Given the description of an element on the screen output the (x, y) to click on. 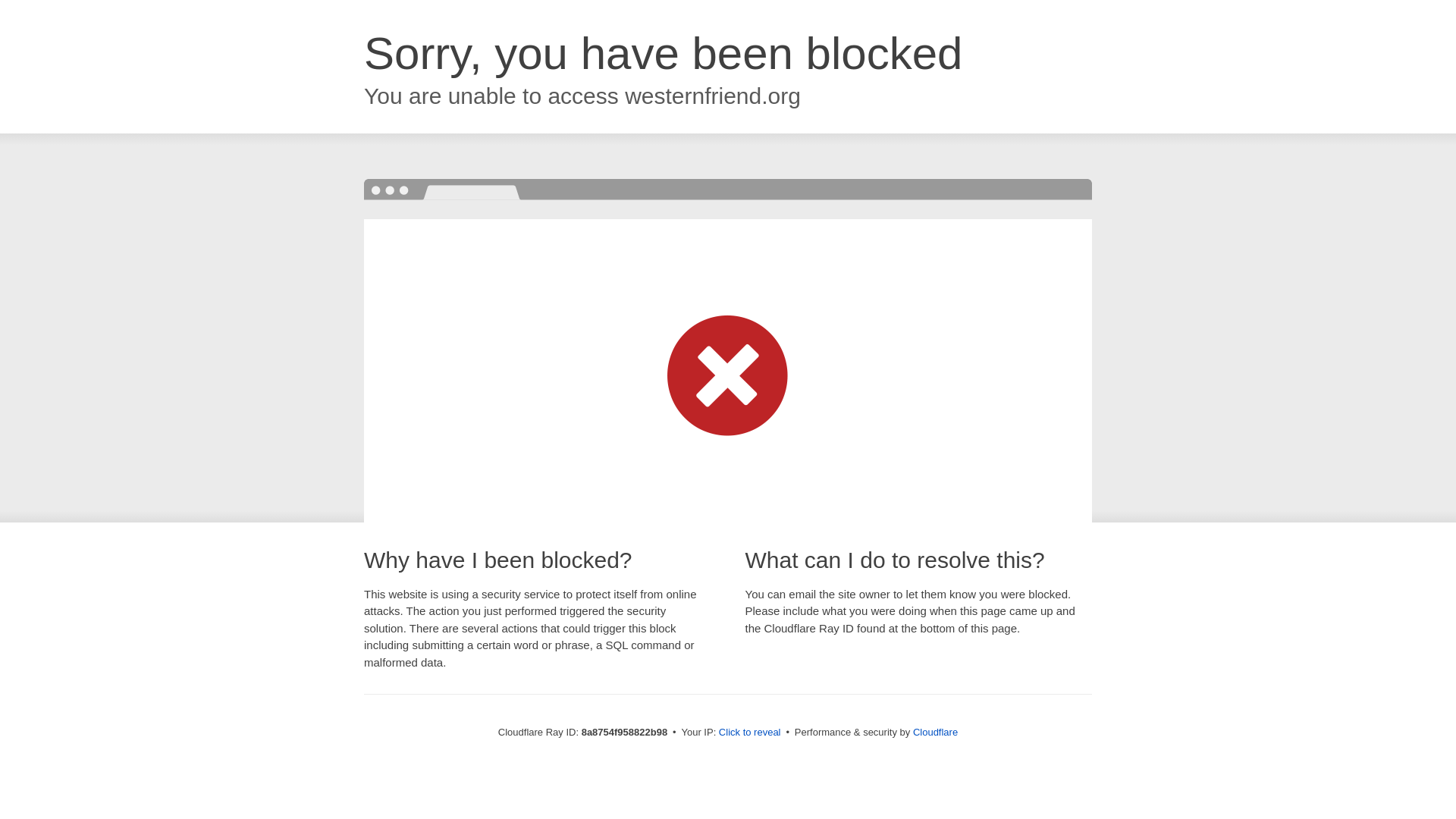
Click to reveal (749, 732)
Cloudflare (935, 731)
